Given the description of an element on the screen output the (x, y) to click on. 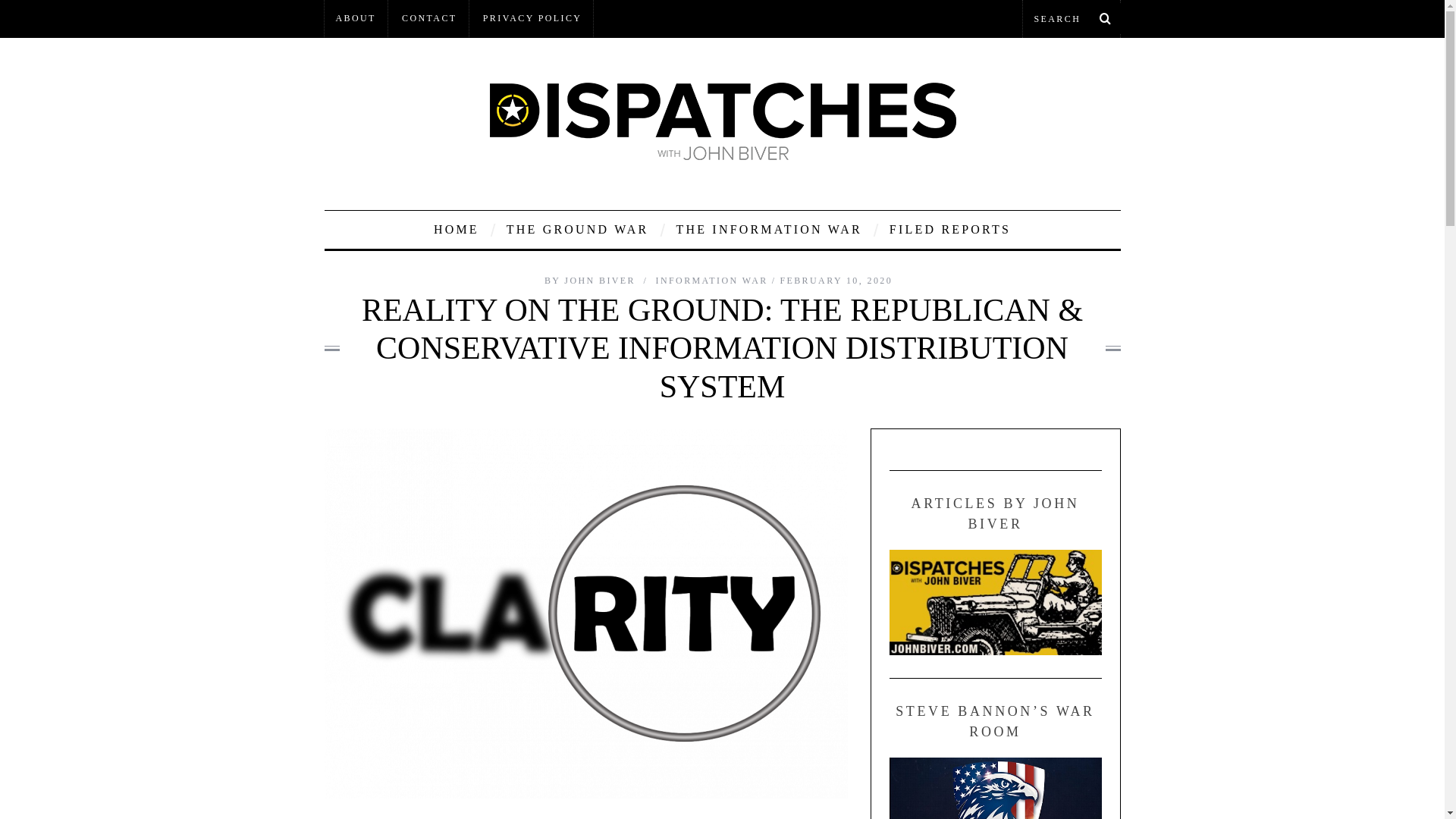
ABOUT (355, 18)
THE GROUND WAR (578, 229)
FILED REPORTS (949, 229)
HOME (456, 229)
Search (1071, 18)
CONTACT (429, 18)
PRIVACY POLICY (532, 18)
THE INFORMATION WAR (767, 229)
Articles by John Biver (994, 602)
